Given the description of an element on the screen output the (x, y) to click on. 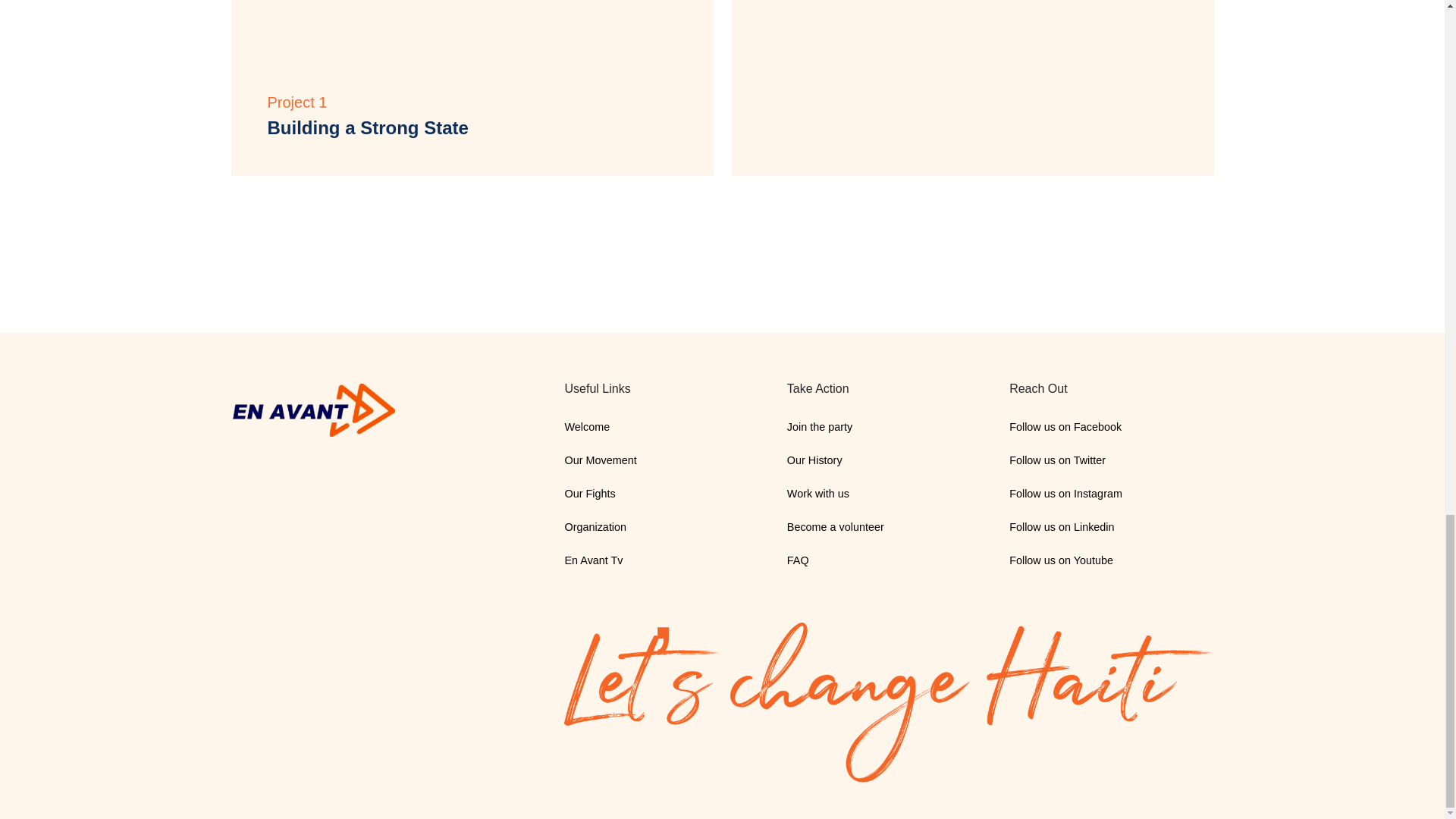
Building a Strong State (366, 127)
Our Movement (600, 460)
Welcome (587, 426)
Organization (595, 526)
Our Fights (589, 493)
